Given the description of an element on the screen output the (x, y) to click on. 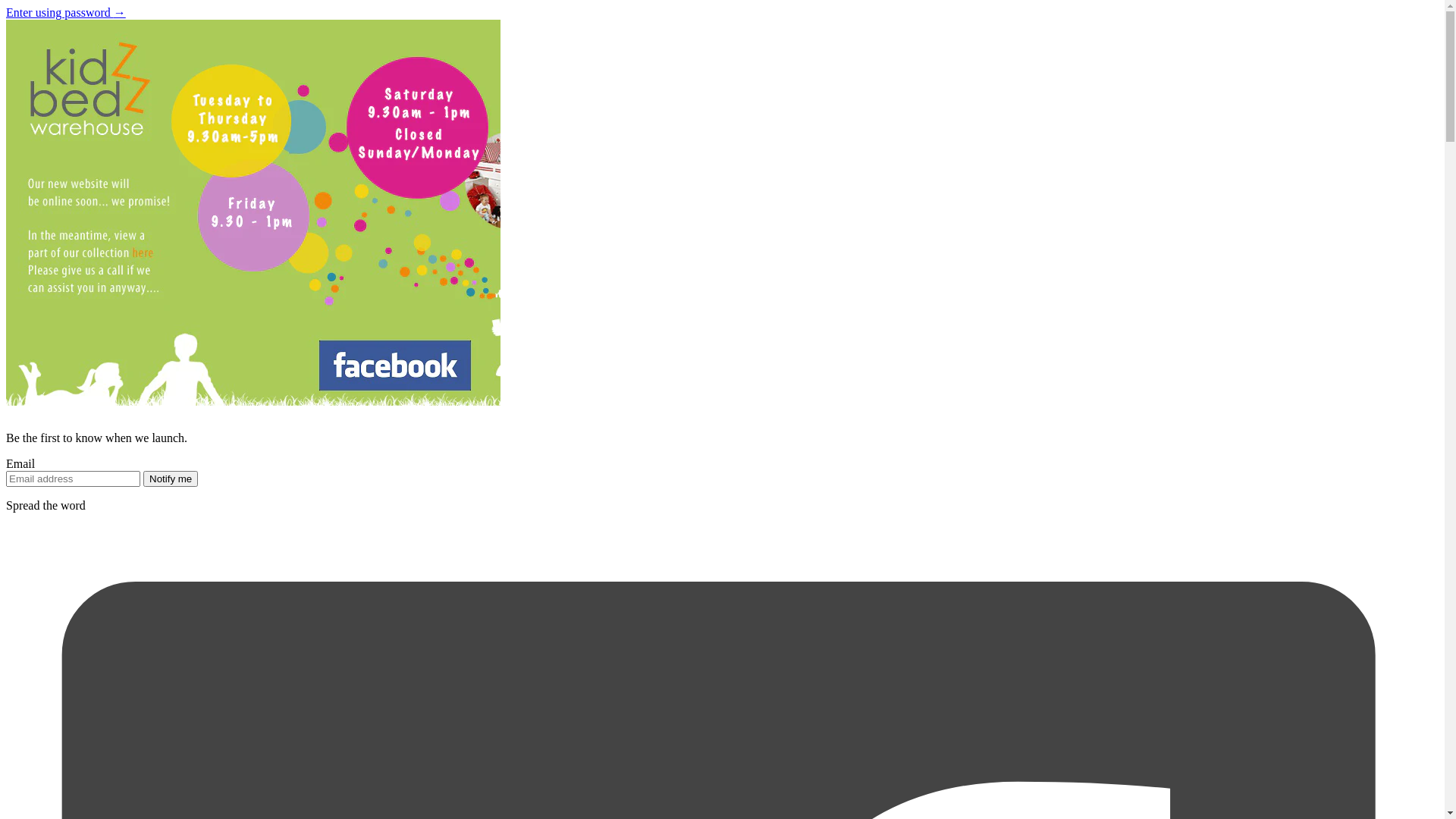
Notify me Element type: text (170, 478)
